Given the description of an element on the screen output the (x, y) to click on. 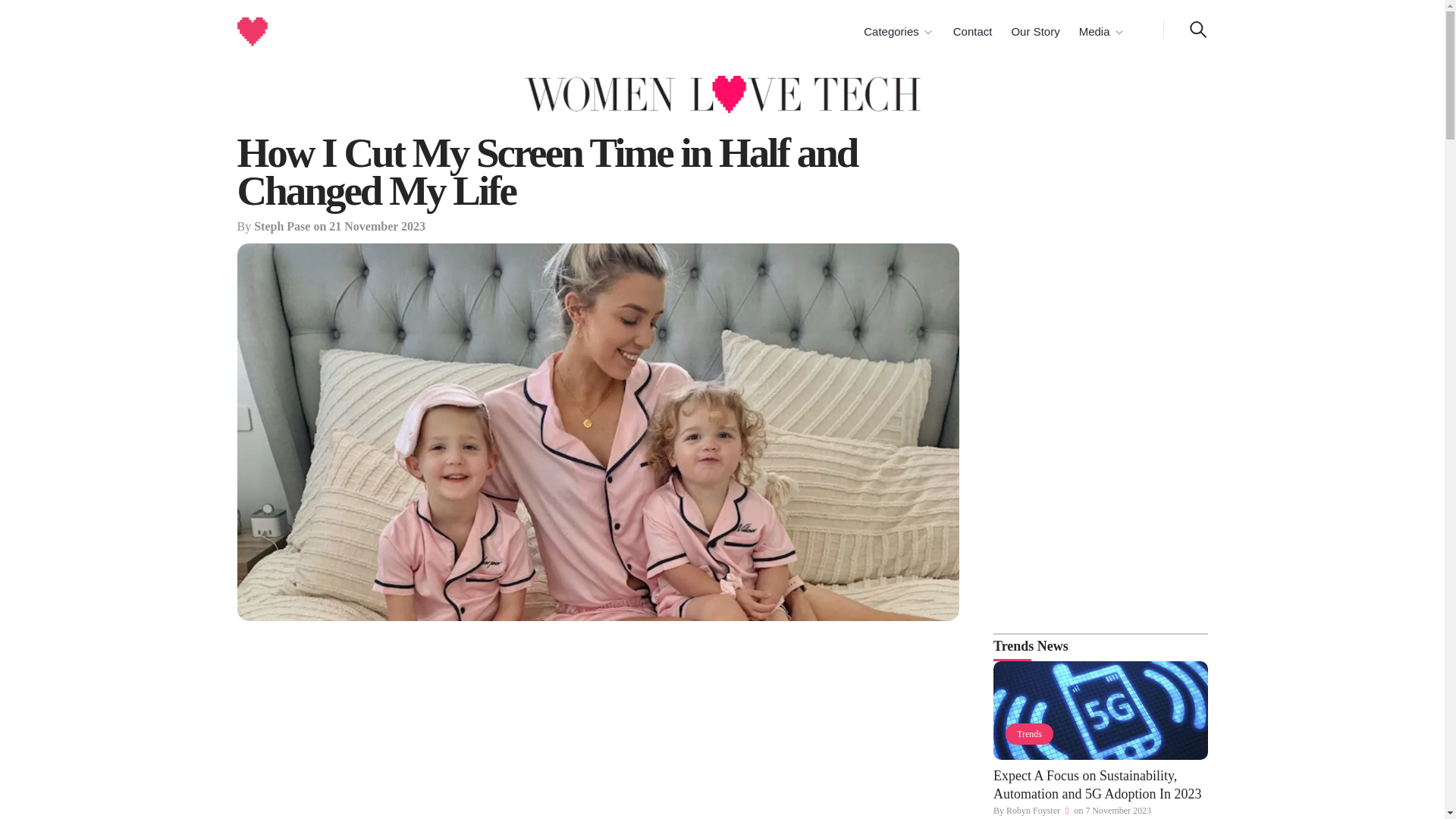
Steph Pase (281, 226)
Advertisement (597, 729)
Our Story (1033, 31)
Contact (970, 31)
Media (1101, 31)
Categories (897, 31)
